Given the description of an element on the screen output the (x, y) to click on. 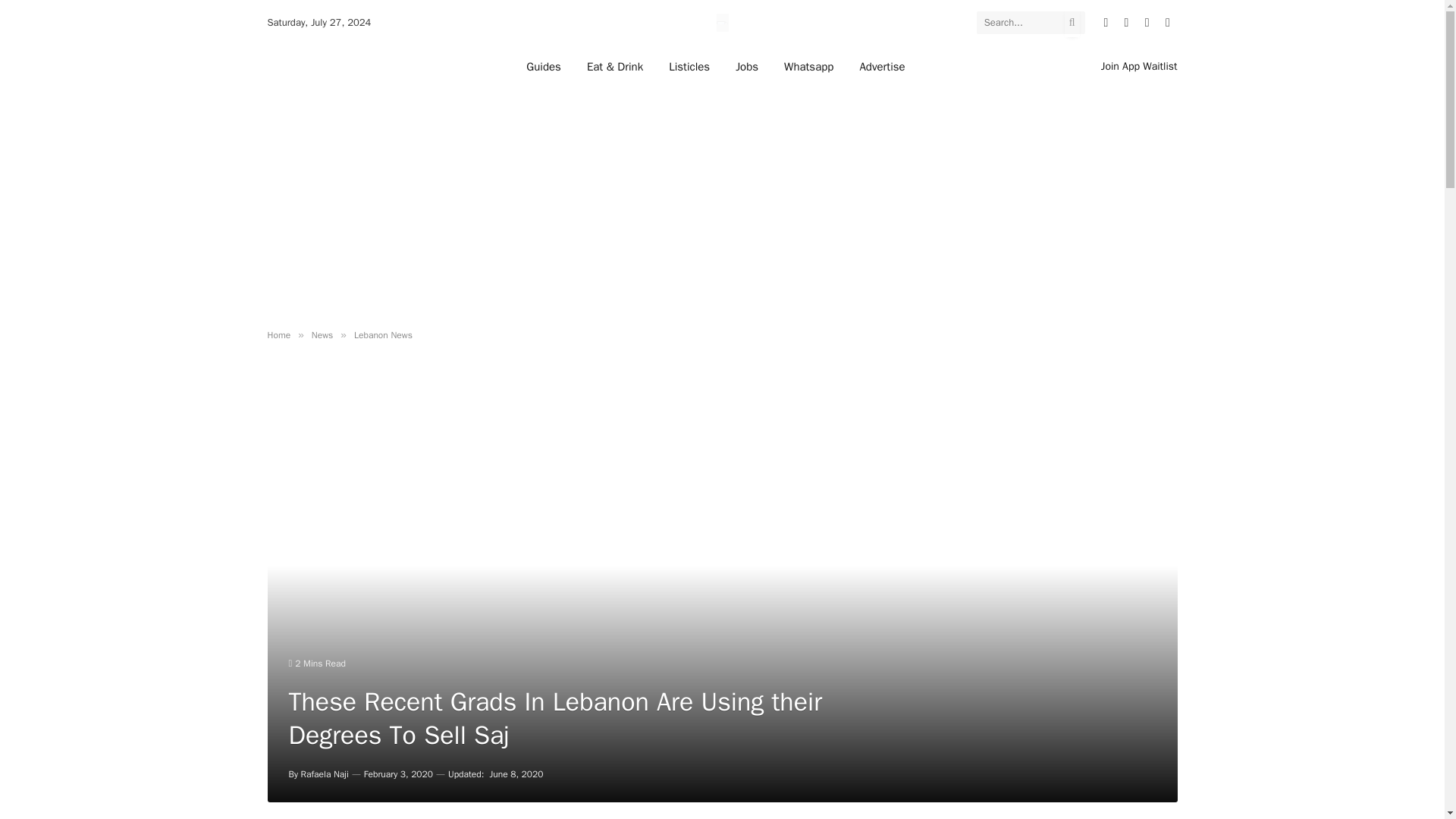
Listicles (689, 65)
Posts by Rafaela Naji (325, 774)
LinkedIn (1146, 22)
Join App Waitlist (1138, 66)
News (322, 335)
Rafaela Naji (325, 774)
Whatsapp (808, 65)
Guides (543, 65)
Facebook (1125, 22)
TikTok (1166, 22)
Jobs (746, 65)
Advertise (881, 65)
Lebanon News (382, 335)
961 (722, 22)
Instagram (1105, 22)
